Given the description of an element on the screen output the (x, y) to click on. 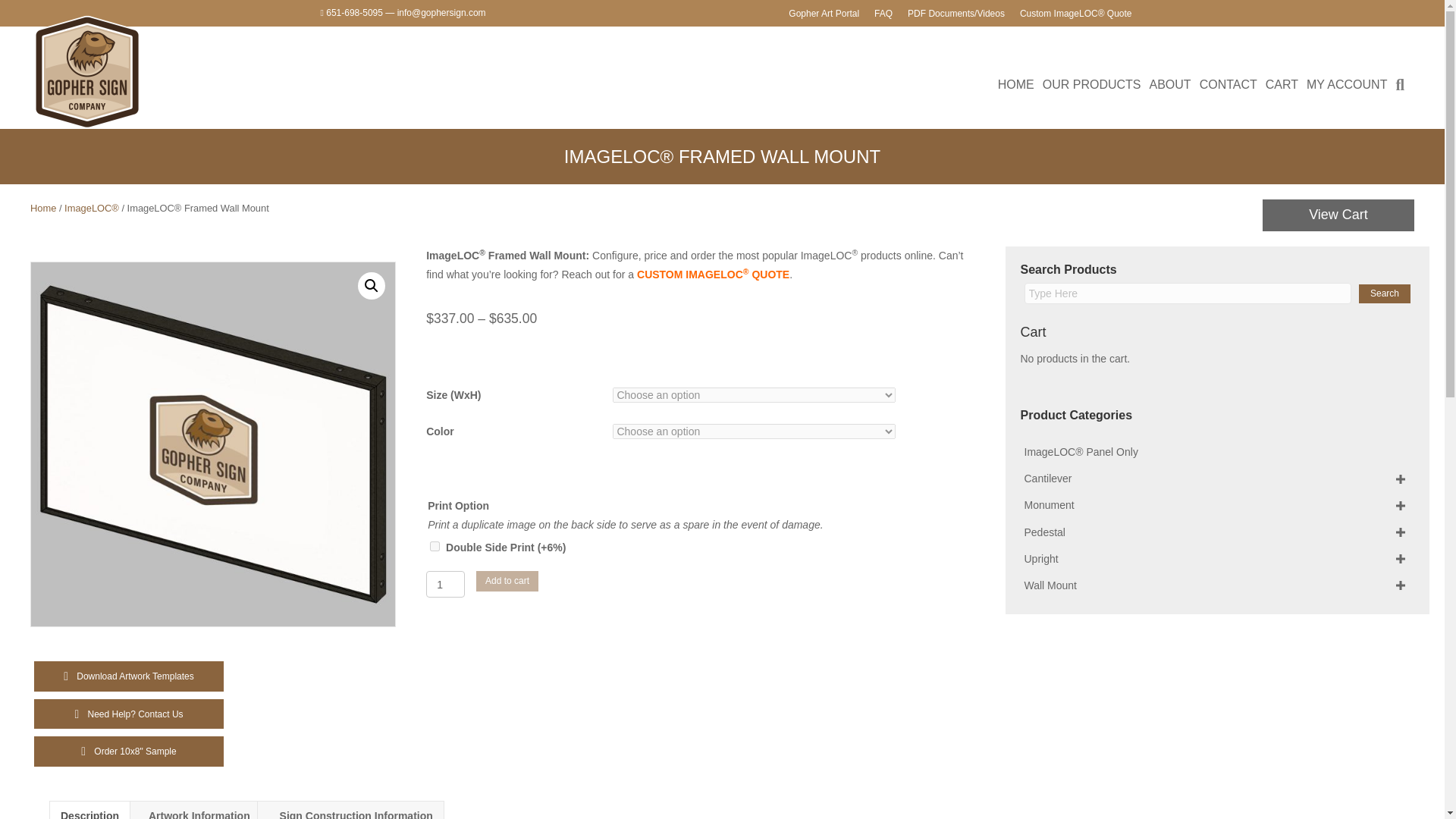
ABOUT (1168, 84)
1 (445, 583)
CART (1281, 84)
Home (43, 207)
Search (1402, 85)
Order 10x8" Sample (128, 751)
double-side-print (434, 546)
View Cart (1337, 214)
HOME (1016, 84)
Download Artwork Templates (128, 675)
MY ACCOUNT (1346, 84)
FAQ (882, 13)
Gopher Art Portal (823, 13)
OUR PRODUCTS (1091, 84)
wall-mount-direct-embed-48-24-textured-brown-190420 (213, 444)
